Given the description of an element on the screen output the (x, y) to click on. 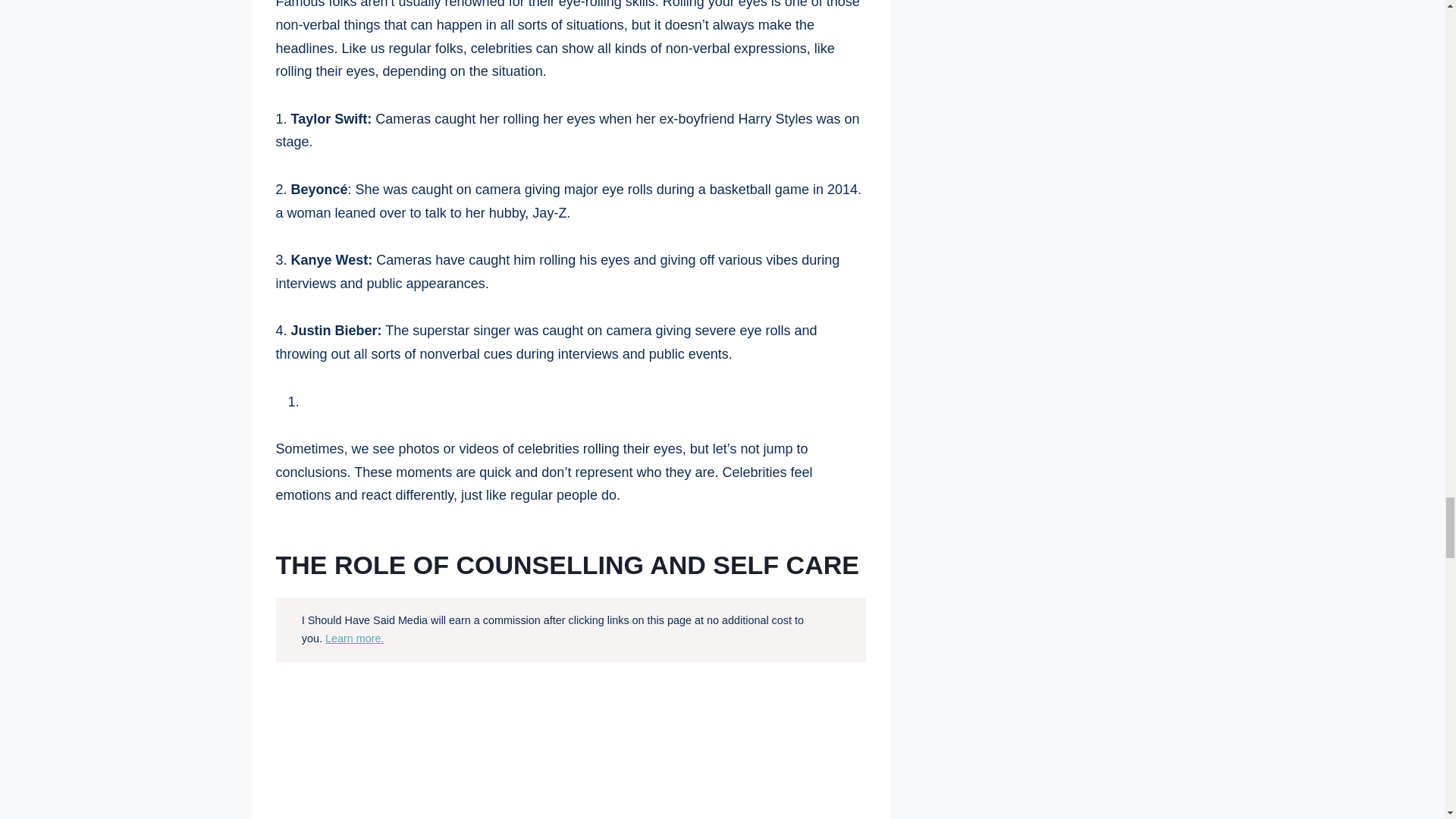
Learn more. (354, 638)
